Given the description of an element on the screen output the (x, y) to click on. 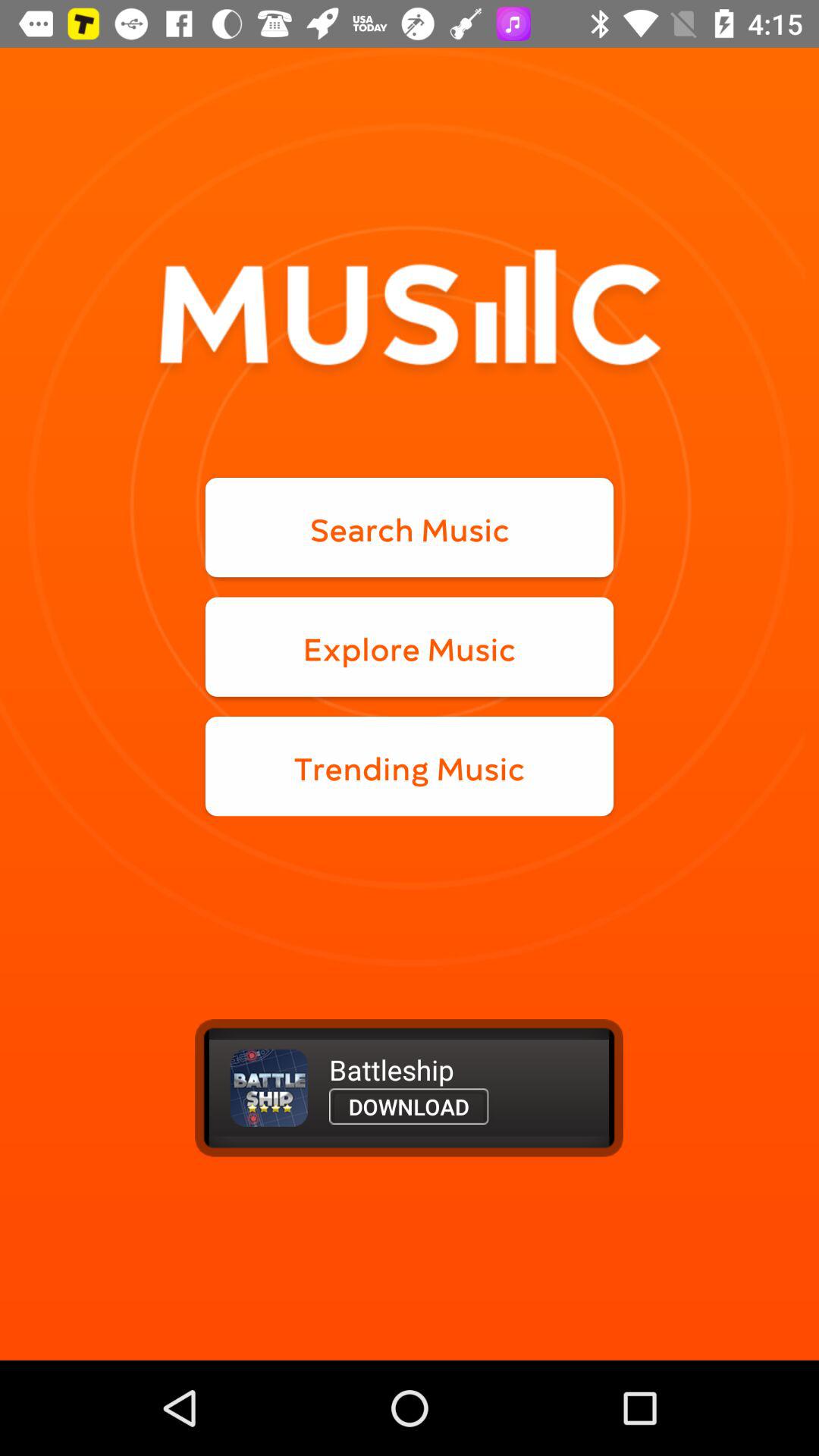
jump to the search music (409, 527)
